Given the description of an element on the screen output the (x, y) to click on. 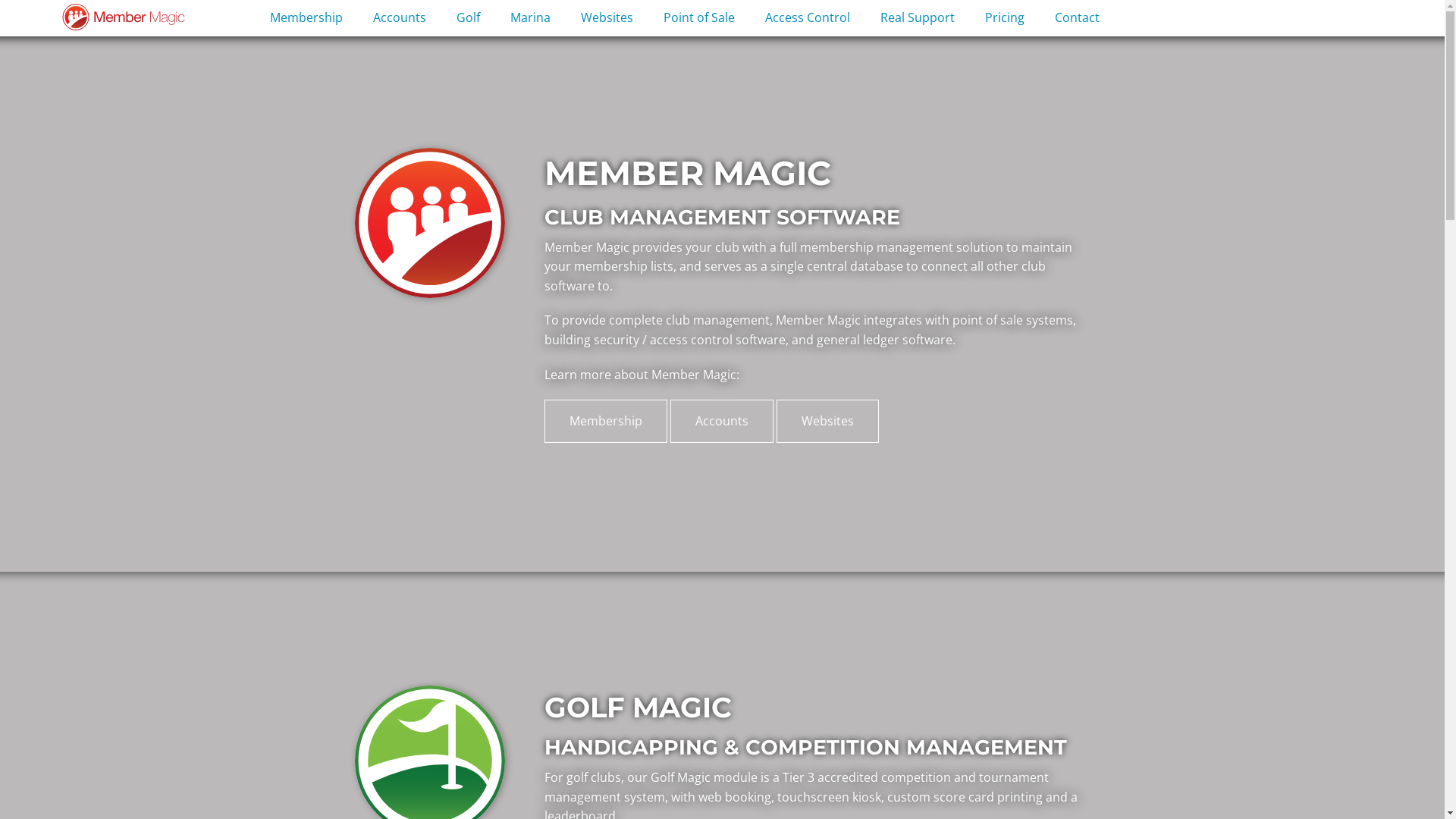
Membership Element type: text (605, 420)
Contact Element type: text (1076, 18)
Accounts Element type: text (721, 420)
Point of Sale Element type: text (698, 18)
Golf Element type: text (468, 18)
Real Support Element type: text (917, 18)
Marina Element type: text (530, 18)
Accounts Element type: text (399, 18)
Websites Element type: text (827, 420)
Websites Element type: text (606, 18)
Access Control Element type: text (807, 18)
Pricing Element type: text (1004, 18)
Membership Element type: text (305, 18)
